Given the description of an element on the screen output the (x, y) to click on. 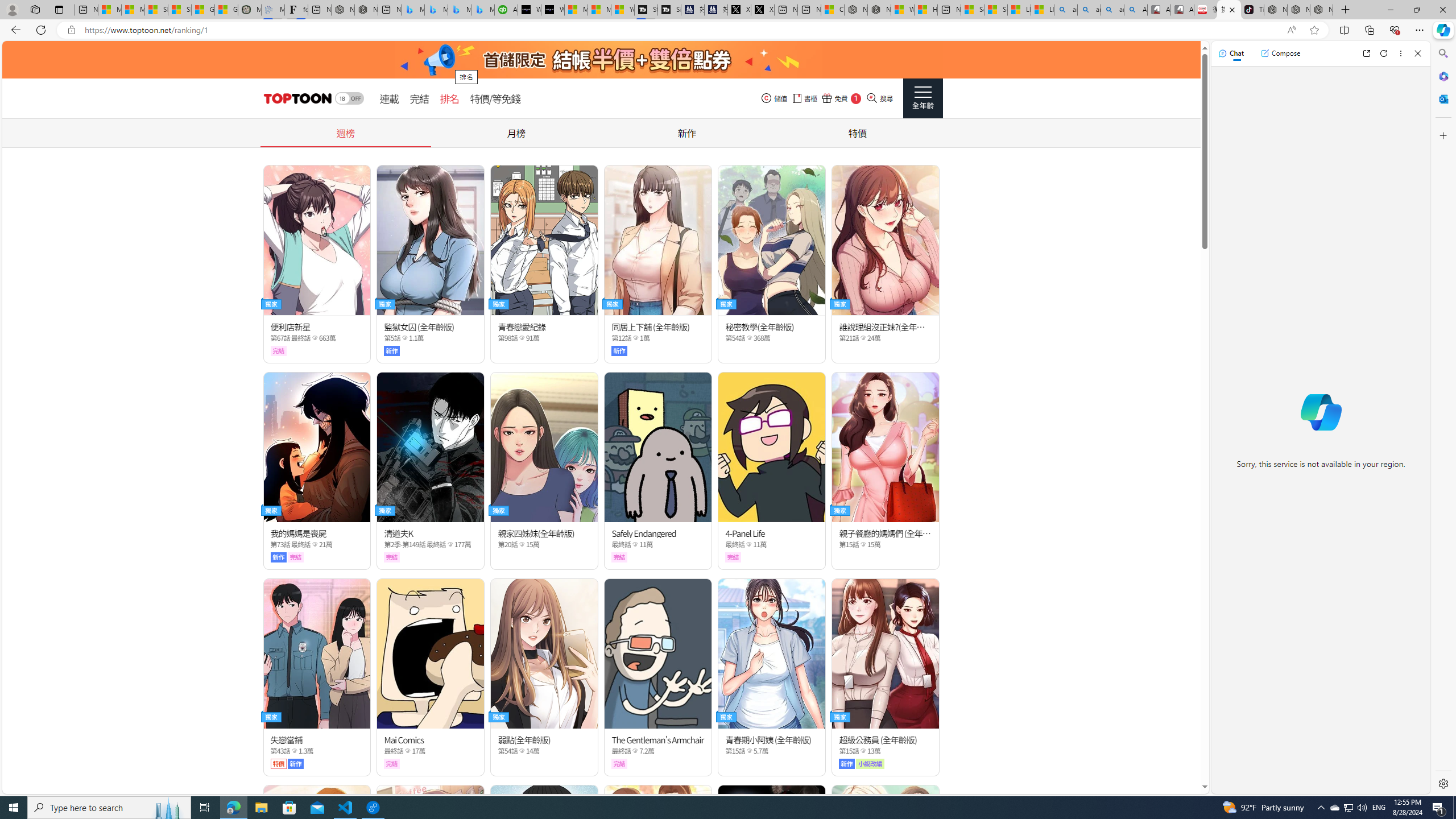
Customize (1442, 135)
Accounting Software for Accountants, CPAs and Bookkeepers (505, 9)
